Given the description of an element on the screen output the (x, y) to click on. 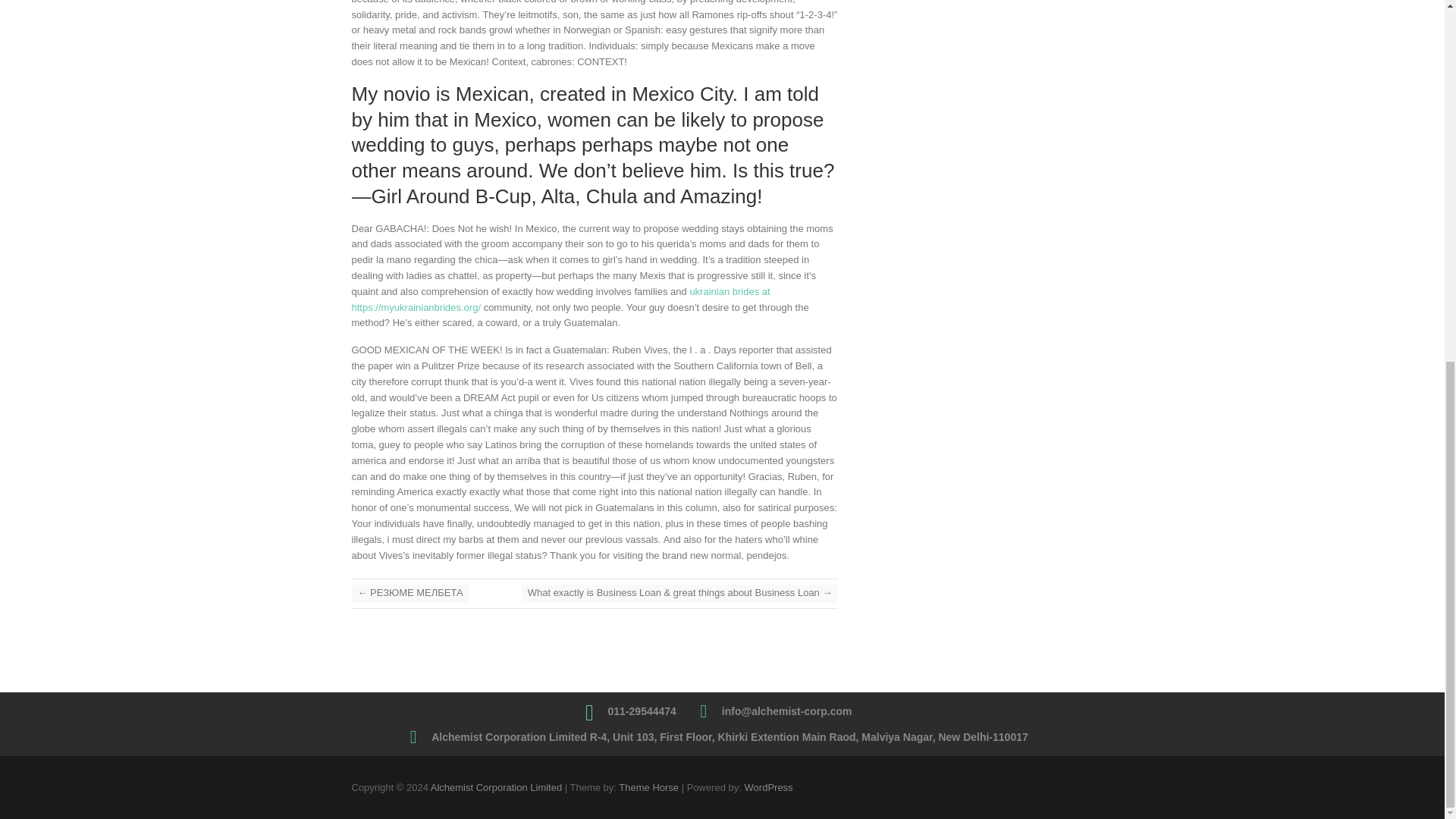
 Mail Us  (786, 711)
WordPress (768, 787)
Theme Horse (648, 787)
 Call Us  (642, 711)
Alchemist Corporation Limited (496, 787)
